Given the description of an element on the screen output the (x, y) to click on. 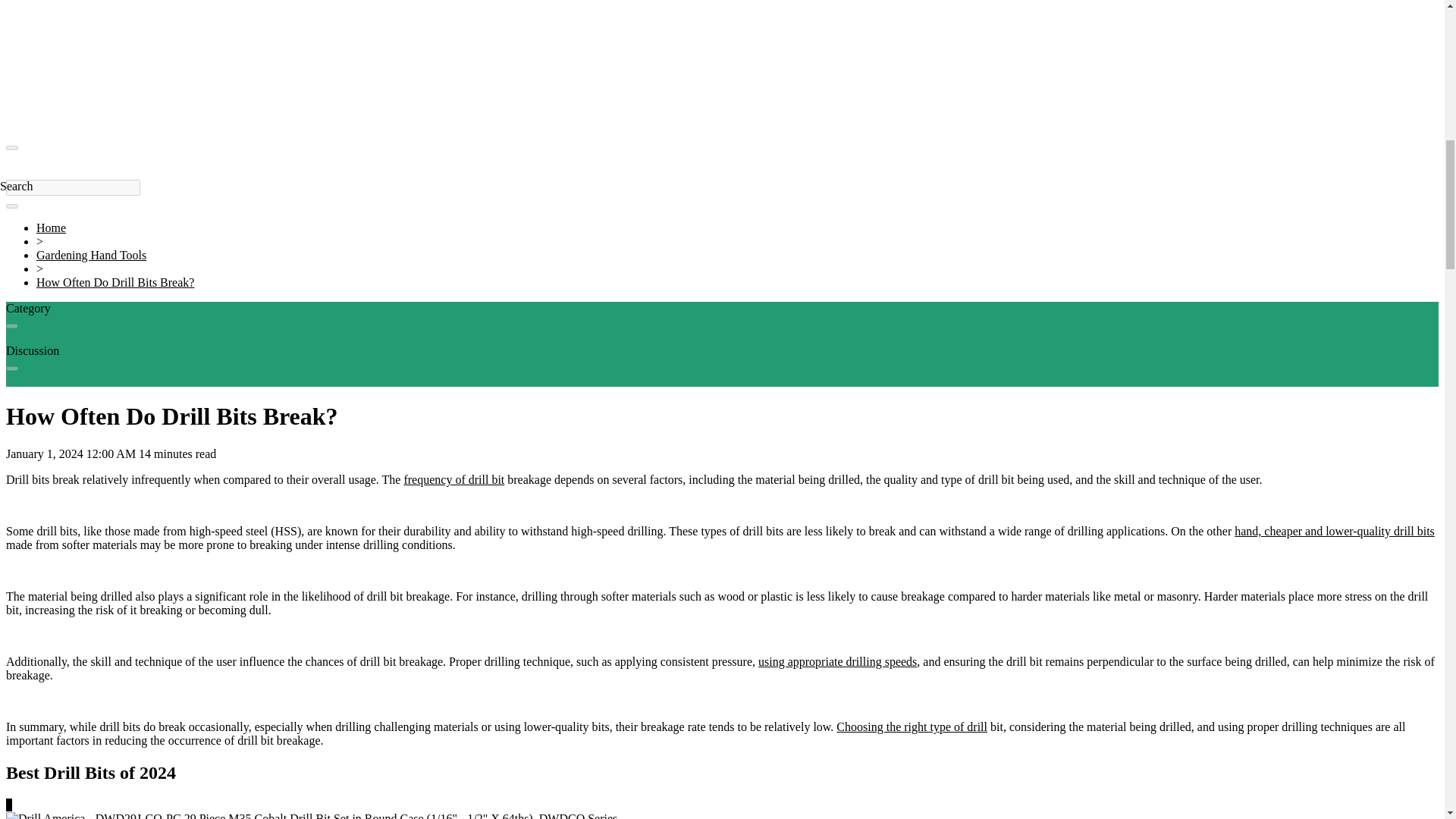
Choosing the right type of drill (911, 726)
How Often Do Drill Bits Break? (114, 282)
using appropriate drilling speeds (837, 661)
Gardening Hand Tools (91, 254)
frequency of drill bit (453, 479)
Home (50, 227)
